Given the description of an element on the screen output the (x, y) to click on. 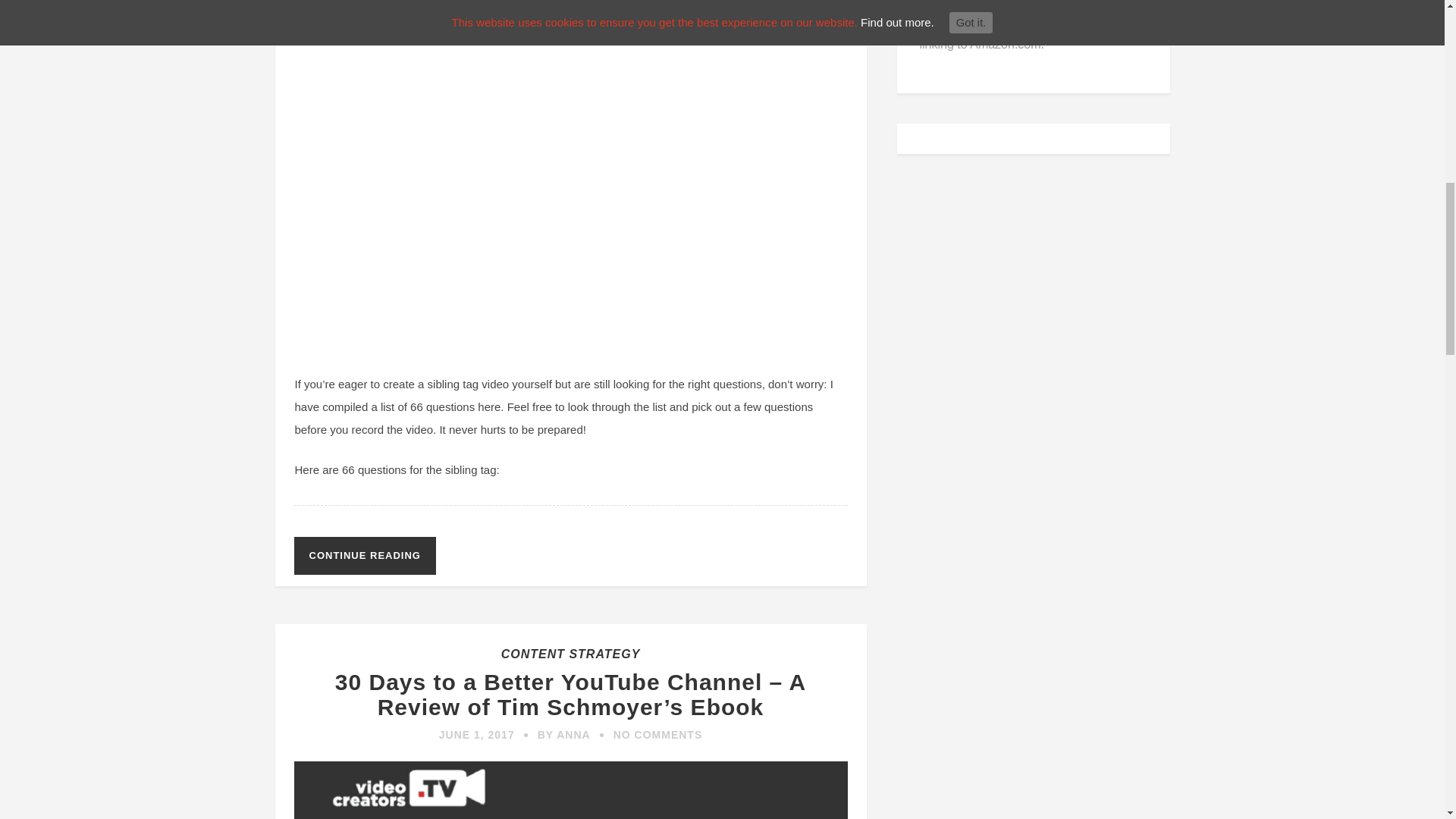
NO COMMENTS (657, 734)
CONTENT STRATEGY (570, 653)
BY ANNA (564, 734)
CONTINUE READING (364, 555)
JUNE 1, 2017 (477, 734)
